Given the description of an element on the screen output the (x, y) to click on. 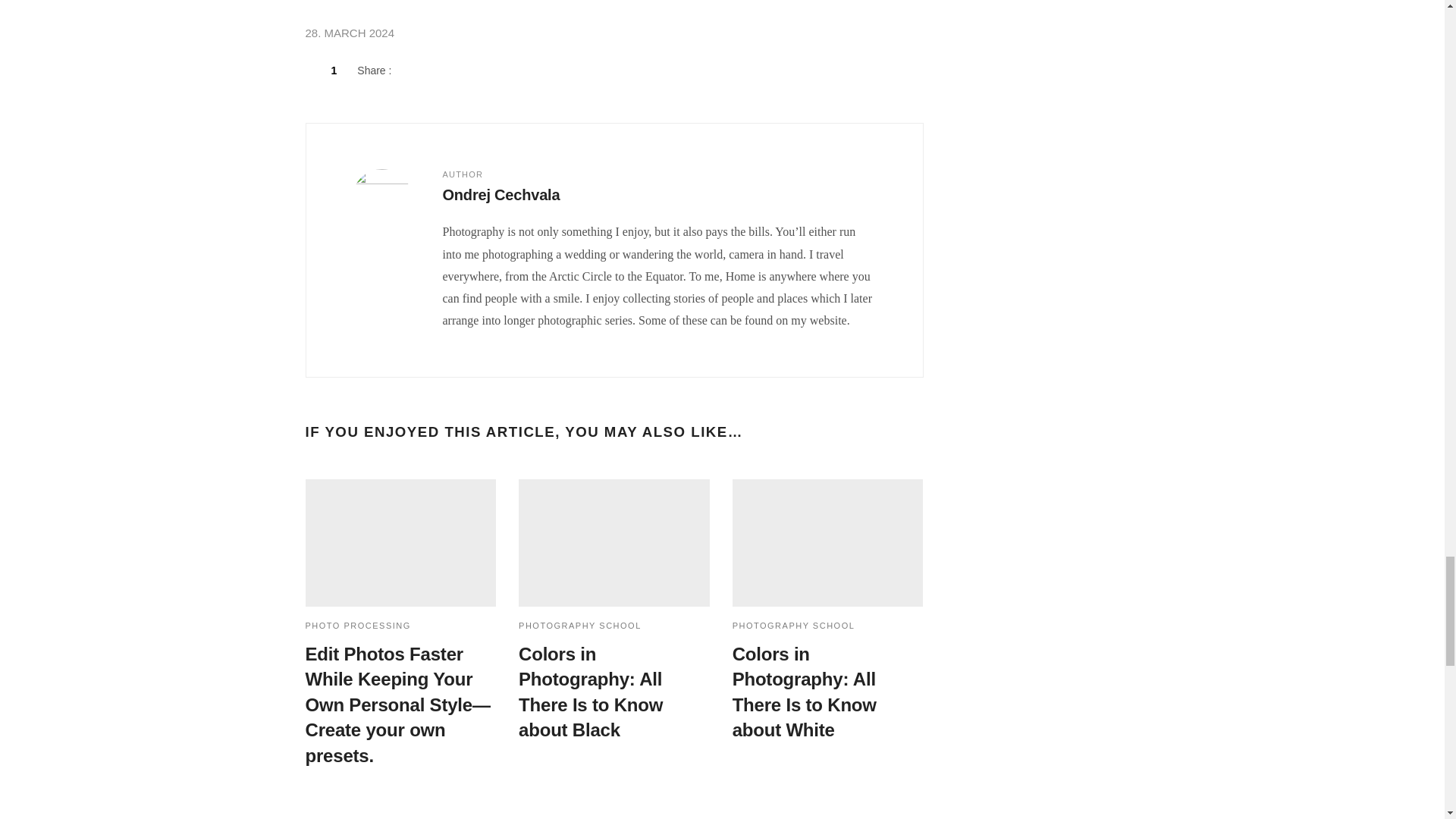
Colors in Photography: All There Is to Know about White (827, 542)
Colors in Photography: All There Is to Know about Black (614, 542)
